Given the description of an element on the screen output the (x, y) to click on. 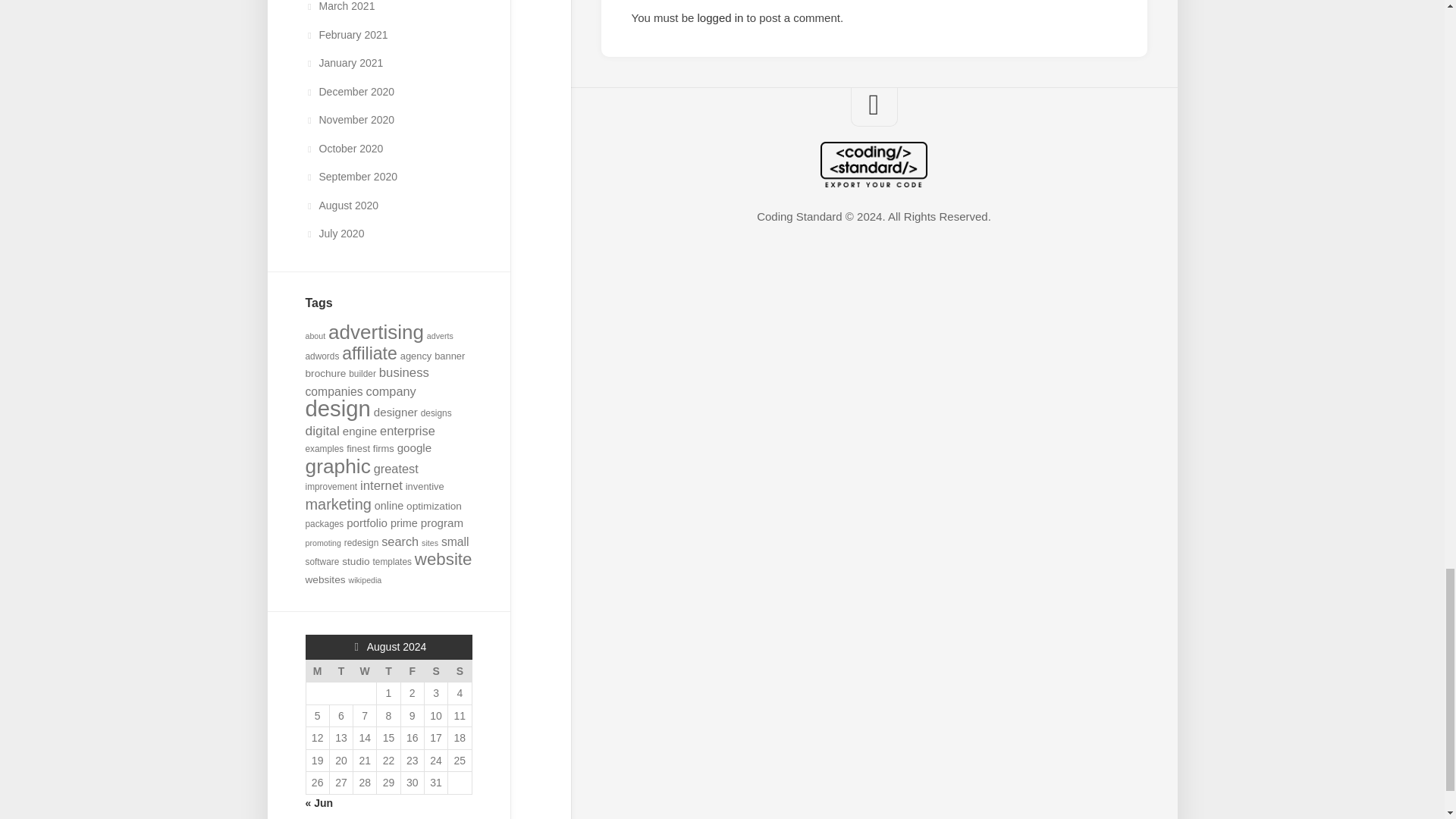
Friday (411, 671)
Saturday (434, 671)
Sunday (459, 671)
Monday (317, 671)
Thursday (388, 671)
Wednesday (365, 671)
Tuesday (340, 671)
